Given the description of an element on the screen output the (x, y) to click on. 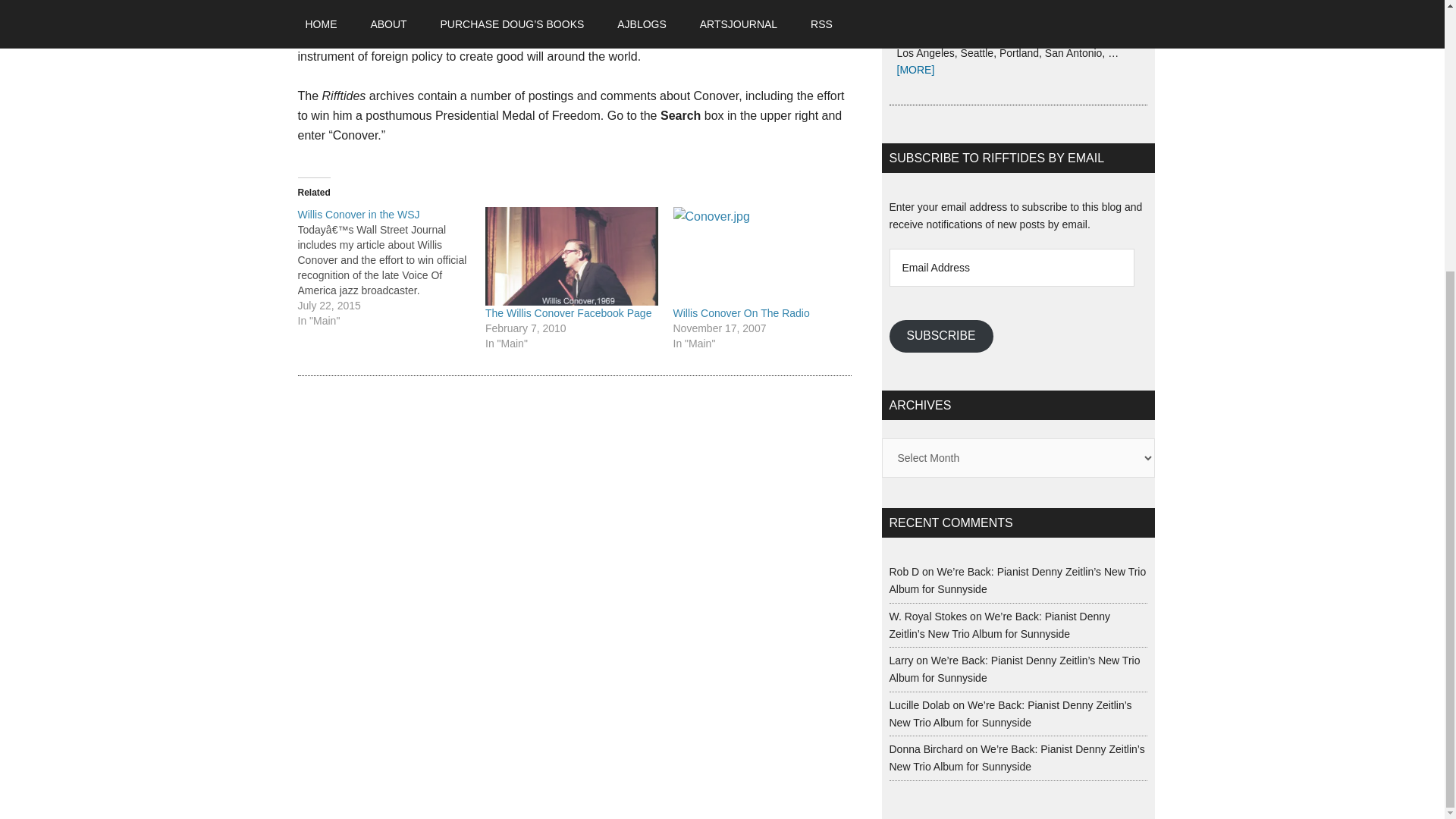
The Willis Conover Facebook Page (571, 256)
Willis Conover On The Radio (740, 313)
Willis Conover On The Radio (758, 256)
The Willis Conover Facebook Page (567, 313)
Willis Conover On The Radio (740, 313)
Willis Conover in the WSJ (358, 214)
Willis Conover in the WSJ (358, 214)
The Willis Conover Facebook Page (567, 313)
W. Royal Stokes (927, 616)
SUBSCRIBE (940, 336)
